Given the description of an element on the screen output the (x, y) to click on. 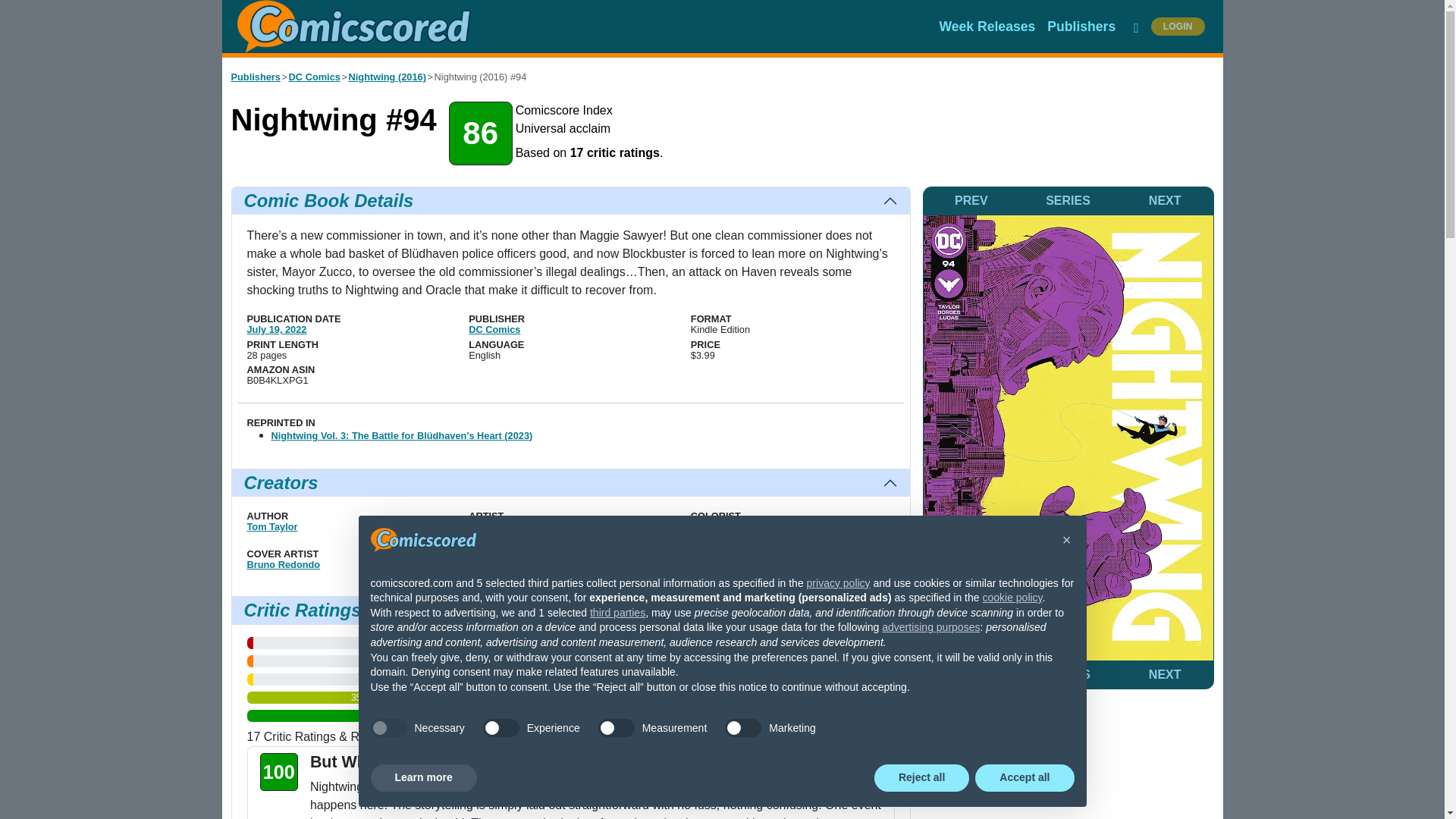
Publishers (254, 76)
false (743, 728)
July 19, 2022 (277, 328)
DC Comics (314, 76)
DC Comics (493, 328)
Adriano Lucas (724, 526)
Bruno Redondo (283, 564)
Creators (570, 483)
true (387, 728)
Tom Taylor (272, 526)
